Given the description of an element on the screen output the (x, y) to click on. 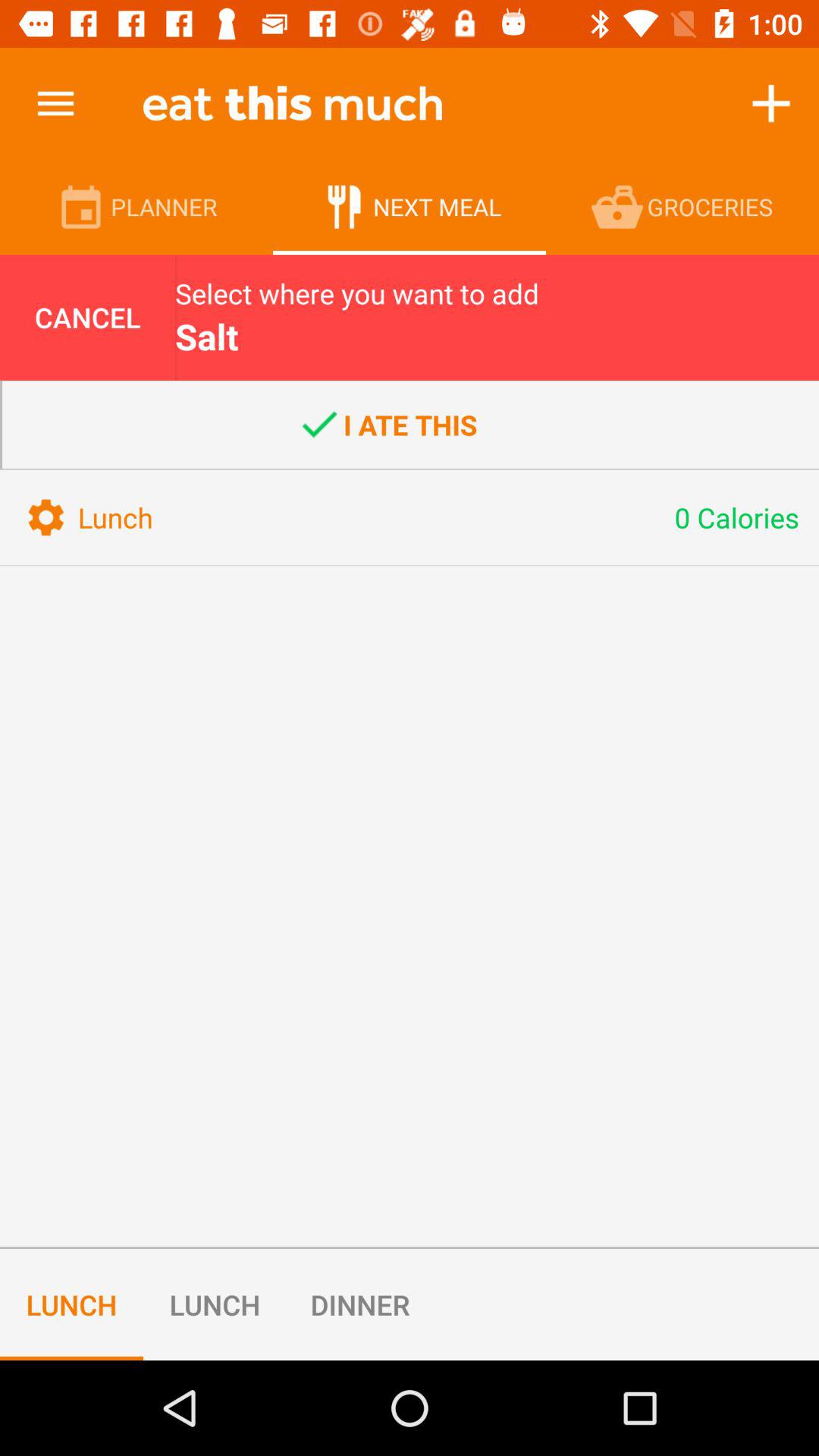
click on icon left to planner (82, 206)
